Given the description of an element on the screen output the (x, y) to click on. 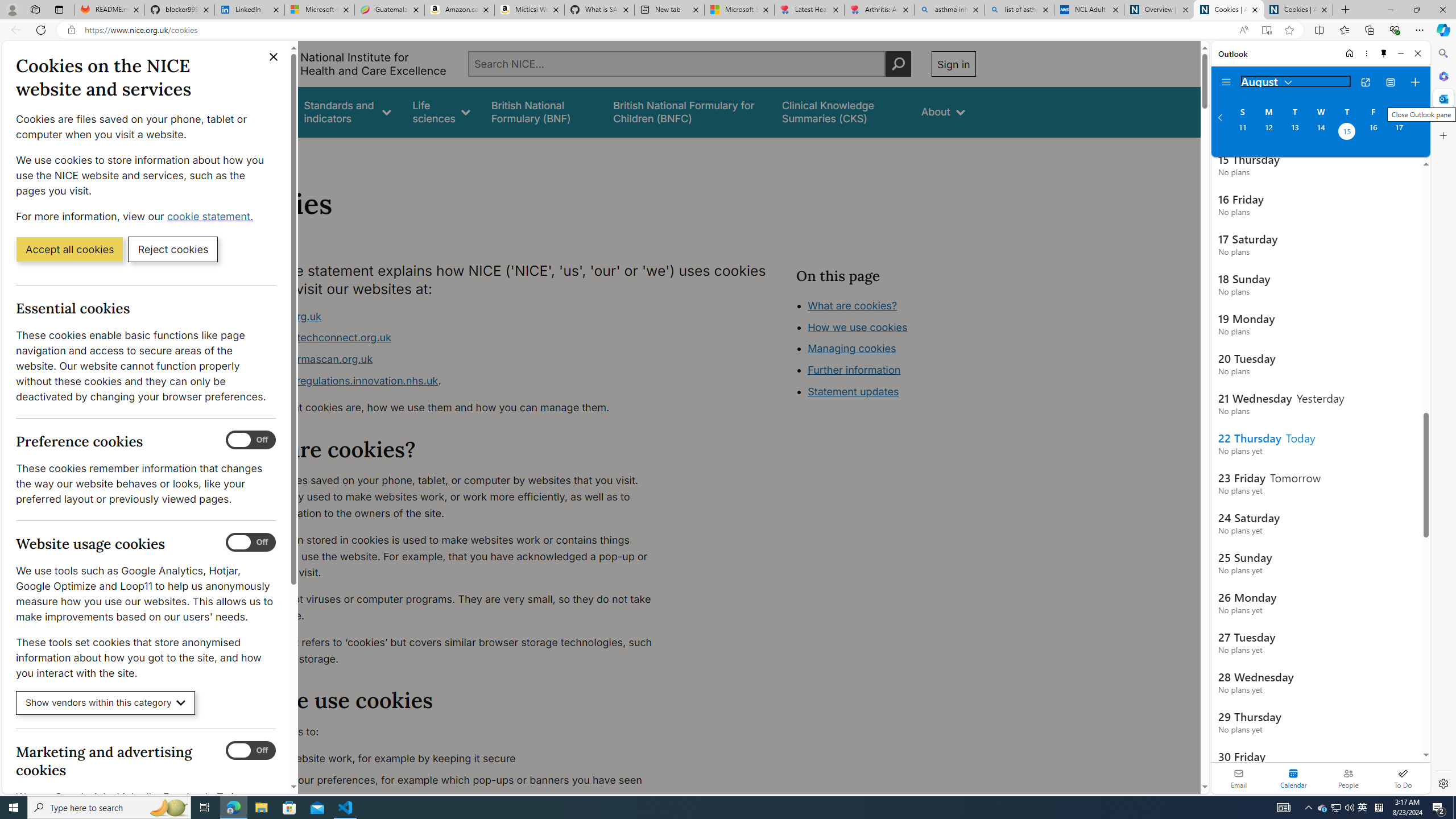
false (841, 111)
NCL Adult Asthma Inhaler Choice Guideline (1088, 9)
Show vendors within this category (105, 703)
Website usage cookies (250, 542)
Tuesday, August 13, 2024.  (1294, 132)
www.healthtechconnect.org.uk (314, 337)
Cookies | About | NICE (1297, 9)
British National Formulary for Children (BNFC) (686, 111)
Create event (1414, 82)
How we use cookies (857, 327)
www.digitalregulations.innovation.nhs.uk. (452, 380)
